Given the description of an element on the screen output the (x, y) to click on. 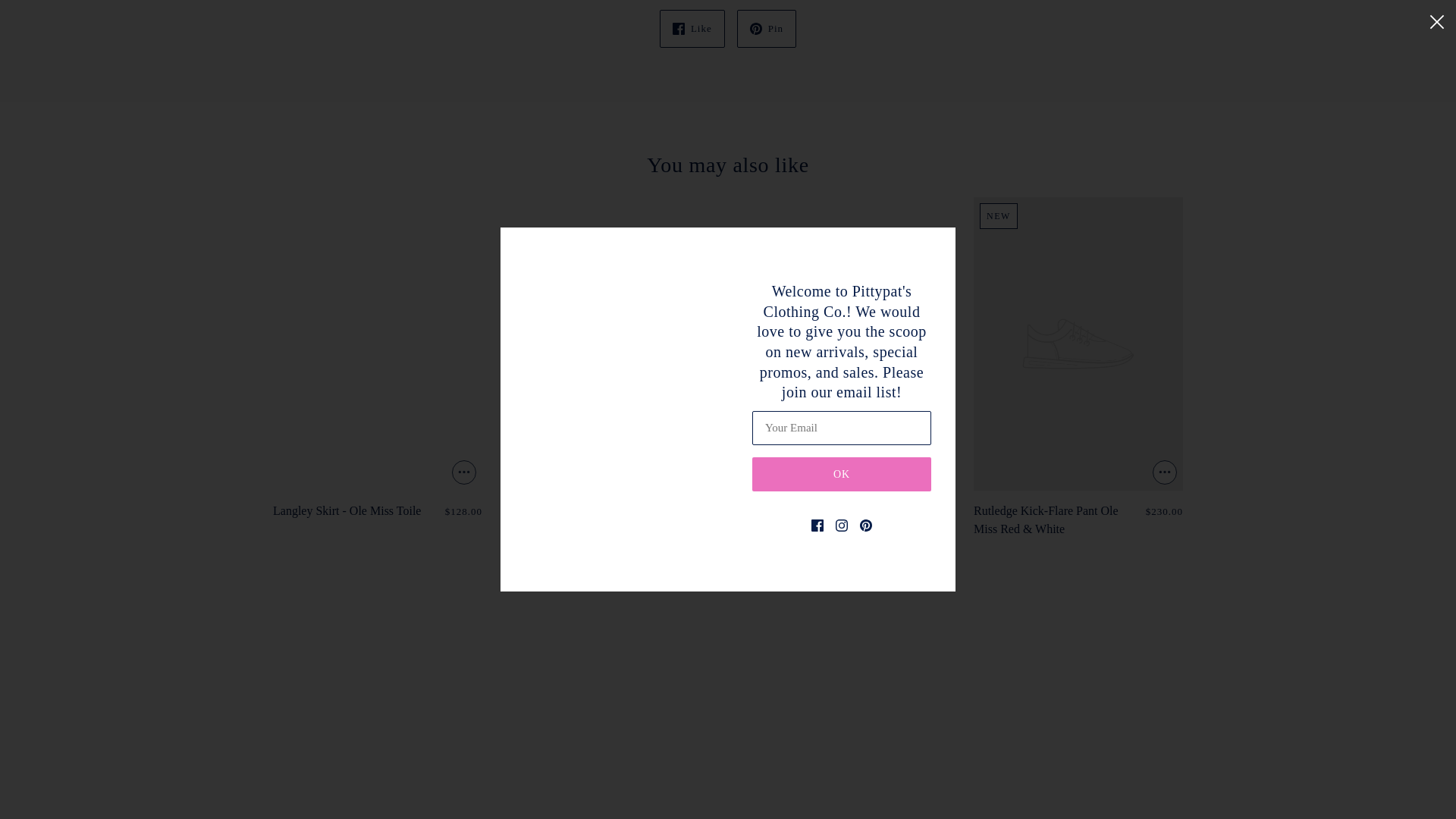
Apple Pay (1078, 760)
Diners Club (1113, 760)
Venmo (1358, 760)
Visa (1392, 760)
American Express (1043, 760)
Shop Pay (1323, 760)
Meta Pay (1183, 760)
Mastercard (1253, 760)
Google Pay (1218, 760)
Discover (1148, 760)
